Given the description of an element on the screen output the (x, y) to click on. 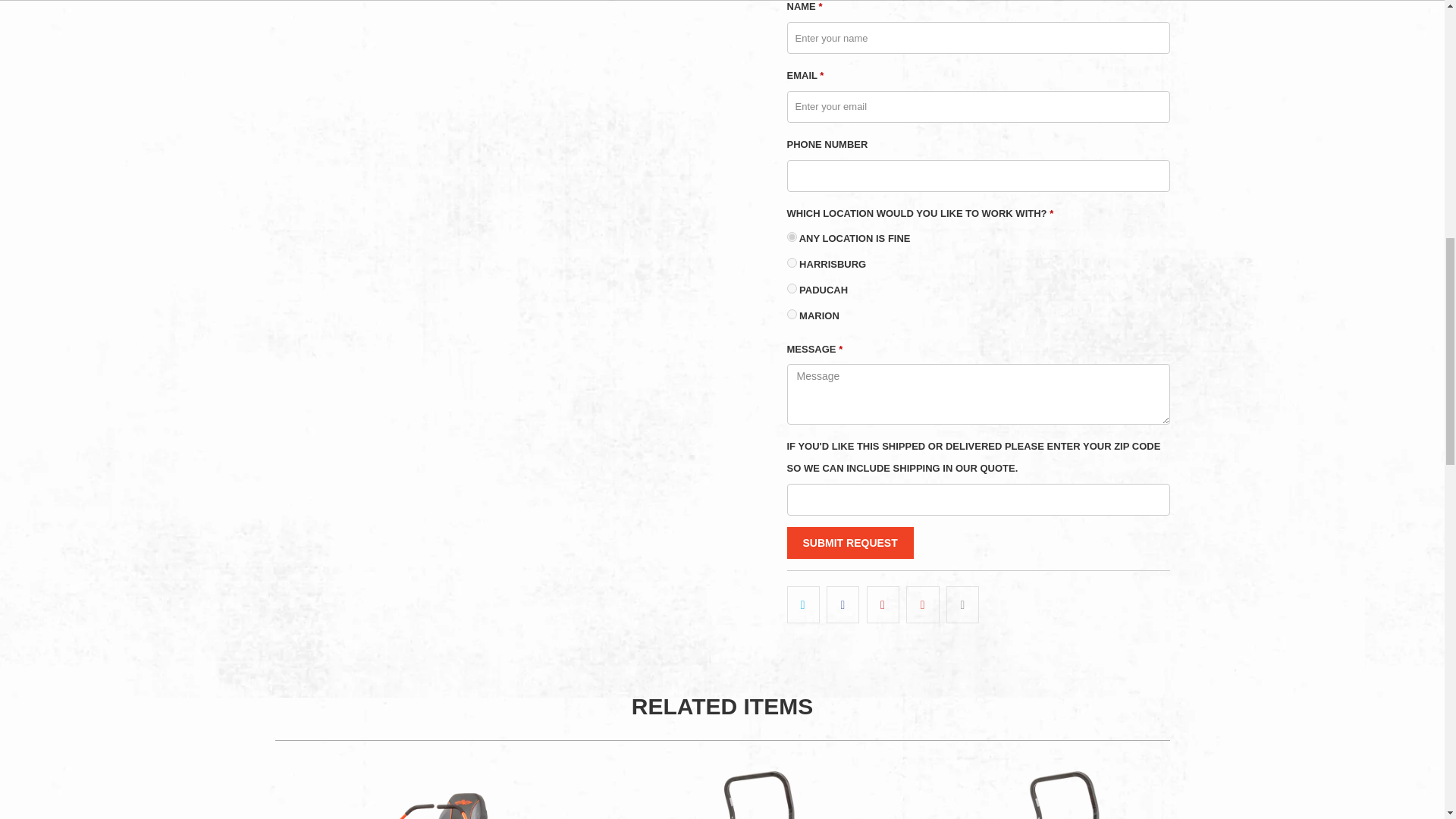
Submit Request (850, 542)
Any Location is Fine (791, 236)
Marion (791, 314)
Paducah (791, 288)
Share this on Pinterest (882, 604)
Harrisburg (791, 262)
Share this on Twitter (803, 604)
Email this to a friend (962, 604)
Share this on Facebook (843, 604)
